Given the description of an element on the screen output the (x, y) to click on. 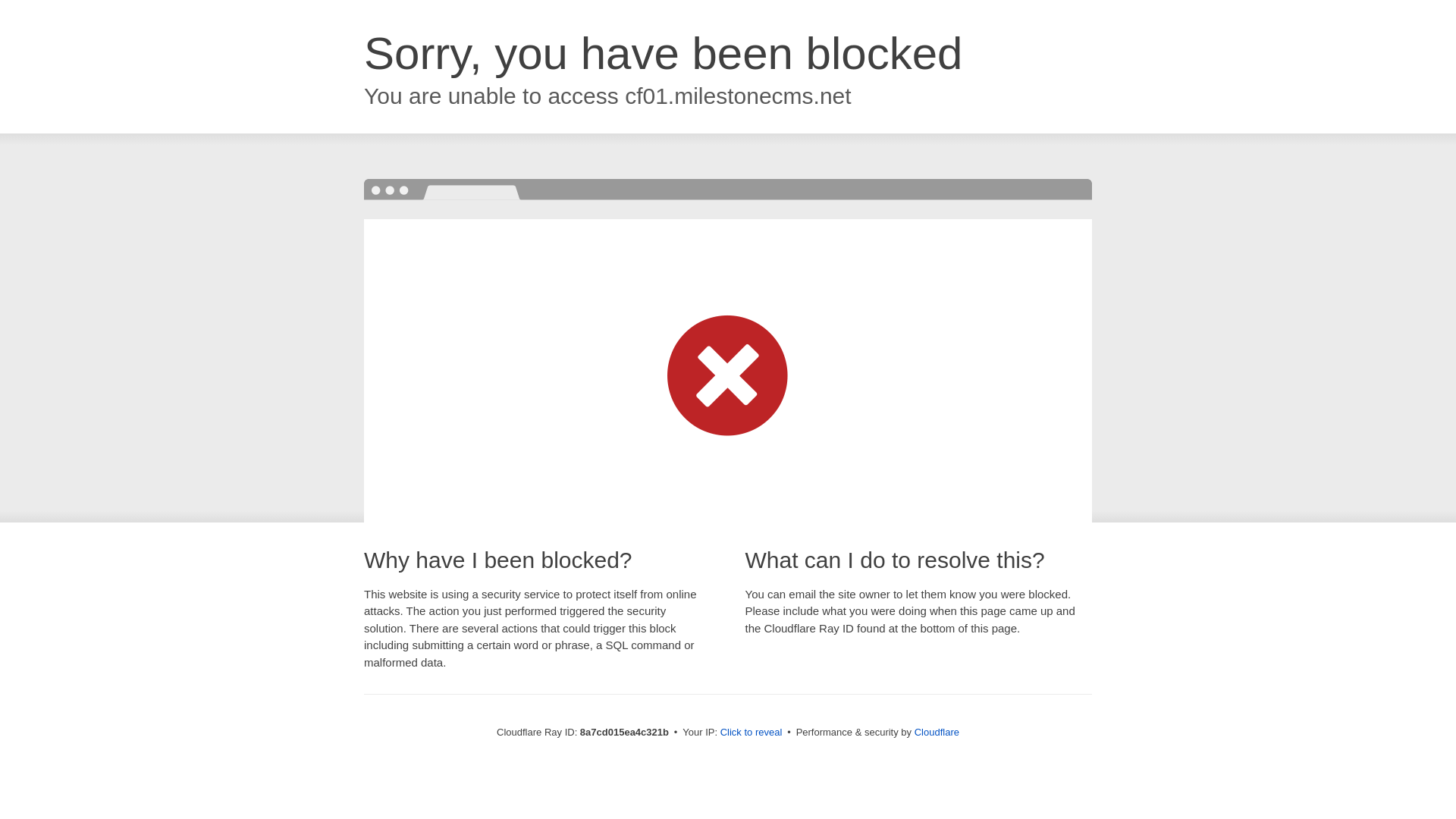
Click to reveal (751, 732)
Cloudflare (936, 731)
